Given the description of an element on the screen output the (x, y) to click on. 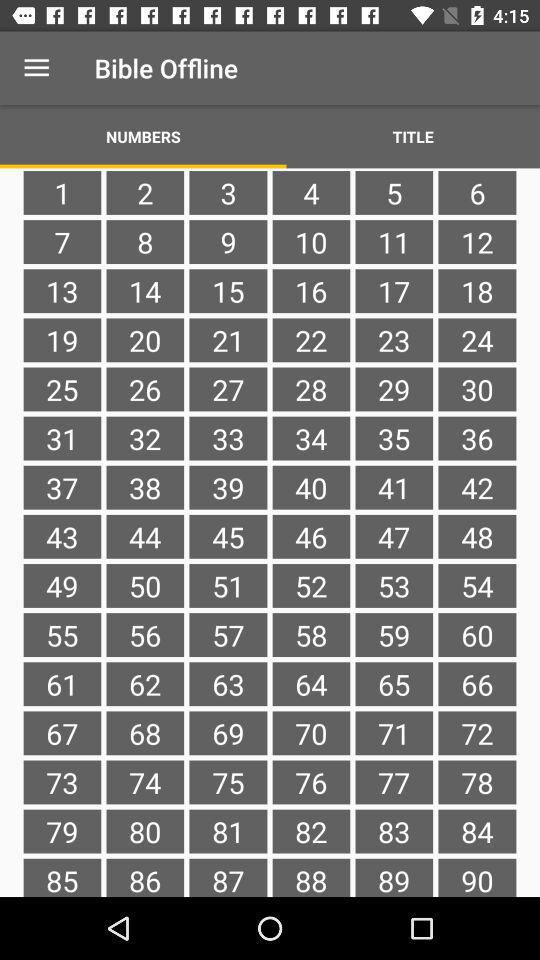
open the item next to the 45 icon (145, 585)
